Given the description of an element on the screen output the (x, y) to click on. 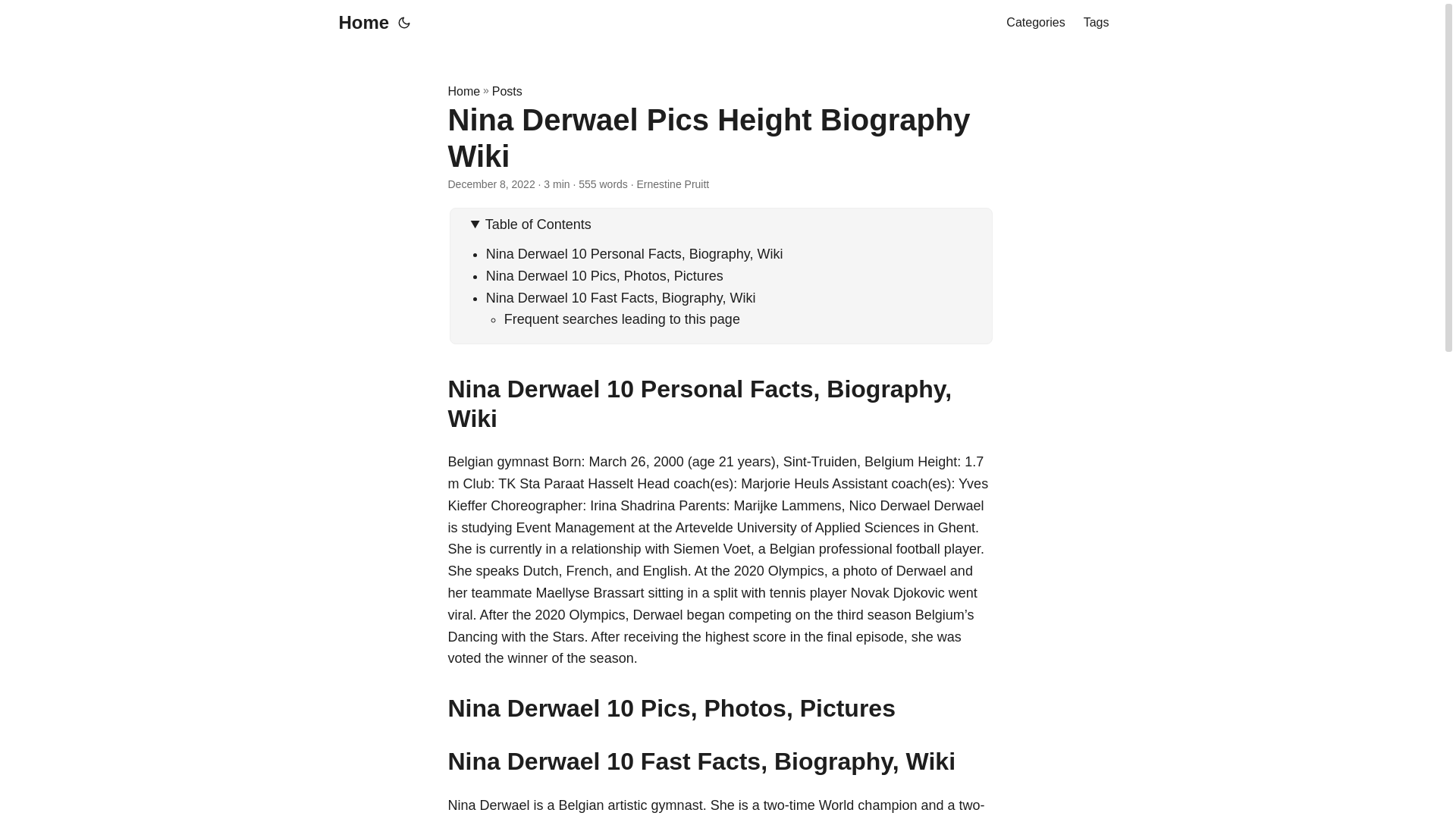
Frequent searches leading to this page (621, 319)
Nina Derwael 10 Fast Facts, Biography, Wiki (620, 297)
Categories (1035, 22)
Home (463, 91)
Categories (1035, 22)
Posts (507, 91)
Nina Derwael 10 Pics, Photos, Pictures (604, 275)
Home (359, 22)
Nina Derwael 10 Personal Facts, Biography, Wiki (634, 253)
